Given the description of an element on the screen output the (x, y) to click on. 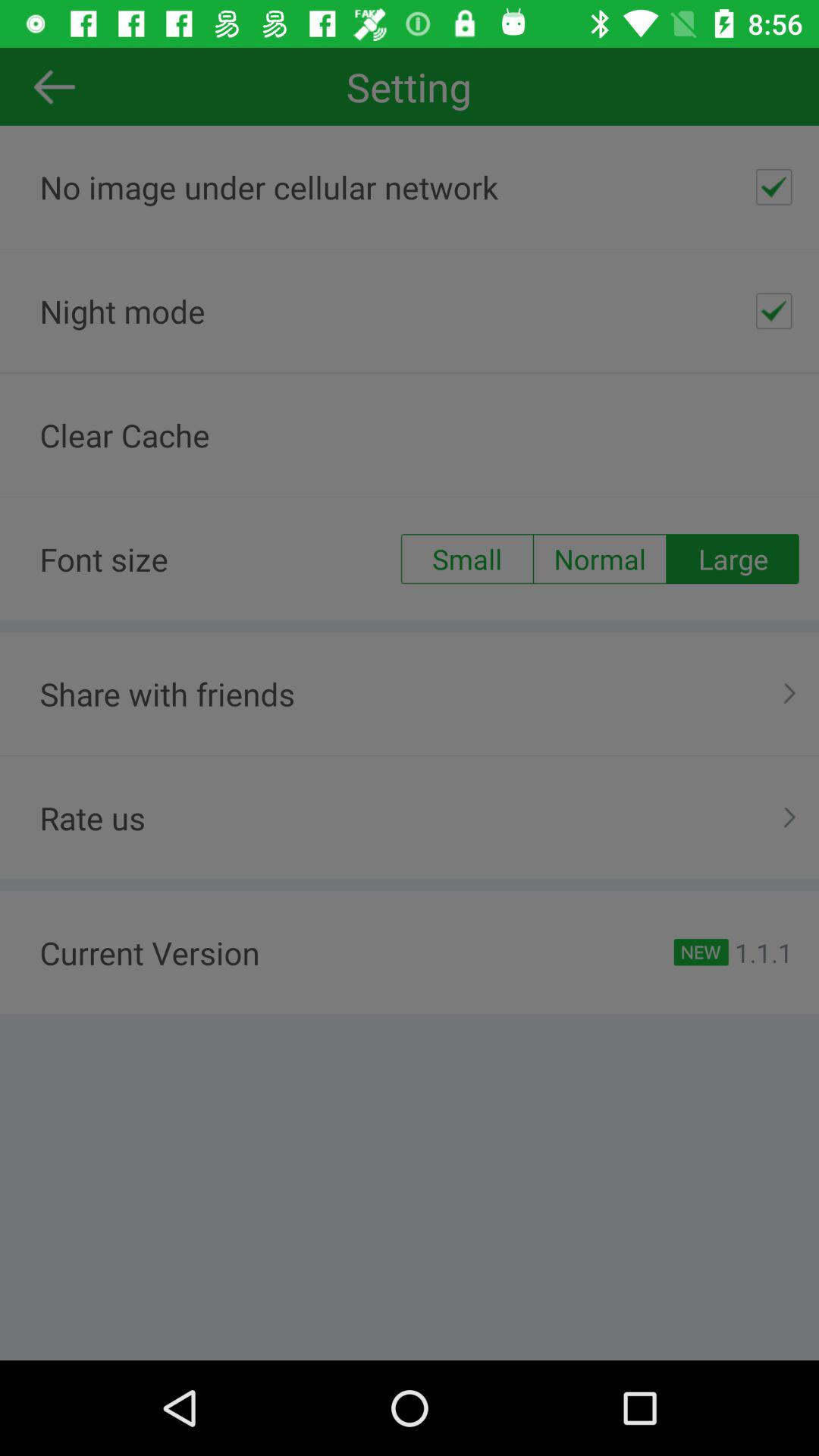
turn on app to the right of the font size (466, 559)
